Given the description of an element on the screen output the (x, y) to click on. 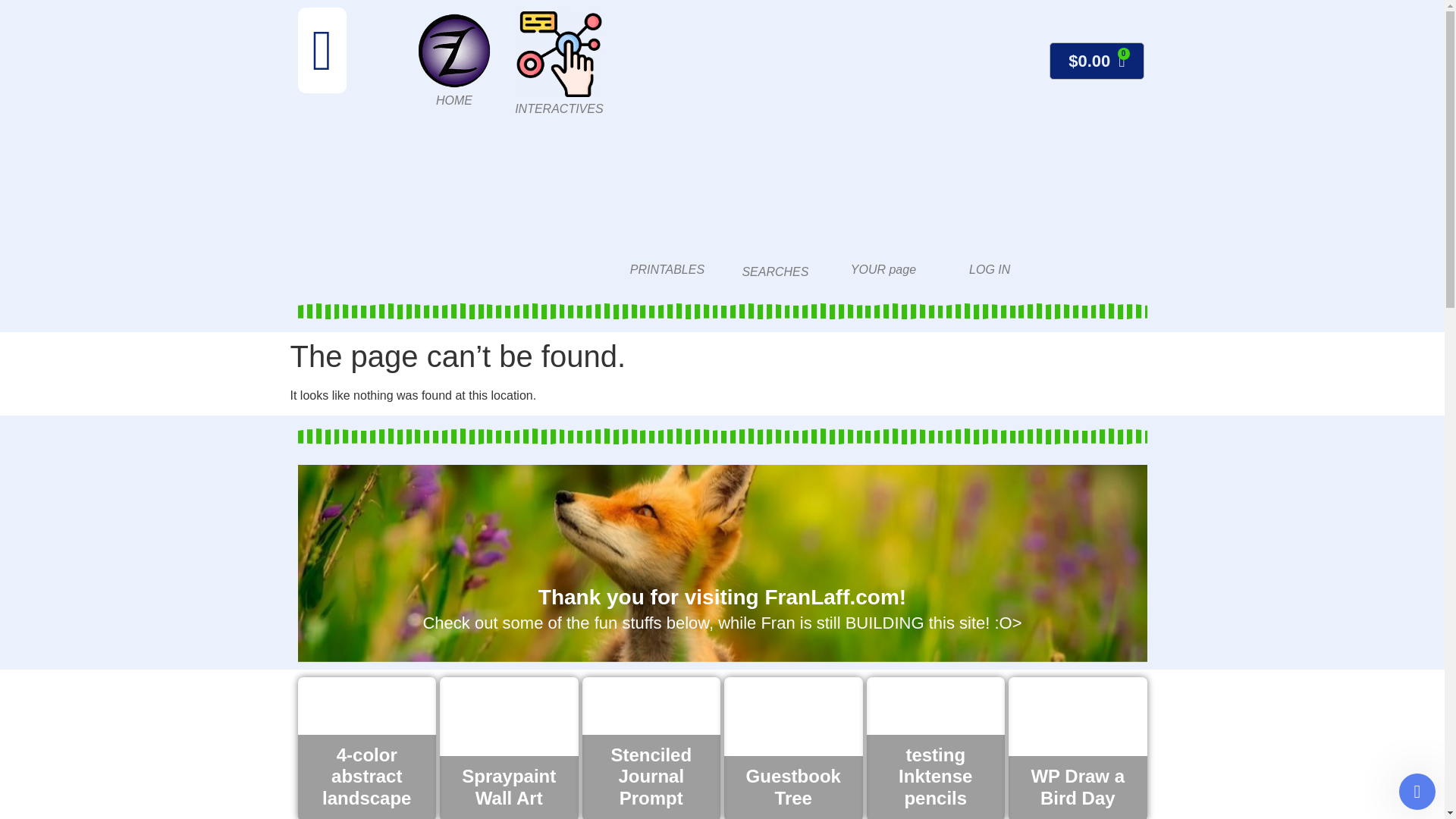
Guestbook Tree (793, 788)
Spraypaint Wall Art (508, 788)
testing Inktense pencils (935, 748)
Stenciled Journal Prompt (651, 777)
Spraypaint Wall Art (508, 748)
4-color abstract landscape (366, 748)
4-color abstract landscape (366, 777)
WP Draw a Bird Day (1078, 748)
Stenciled Journal Prompt (651, 748)
Guestbook Tree (793, 748)
